Given the description of an element on the screen output the (x, y) to click on. 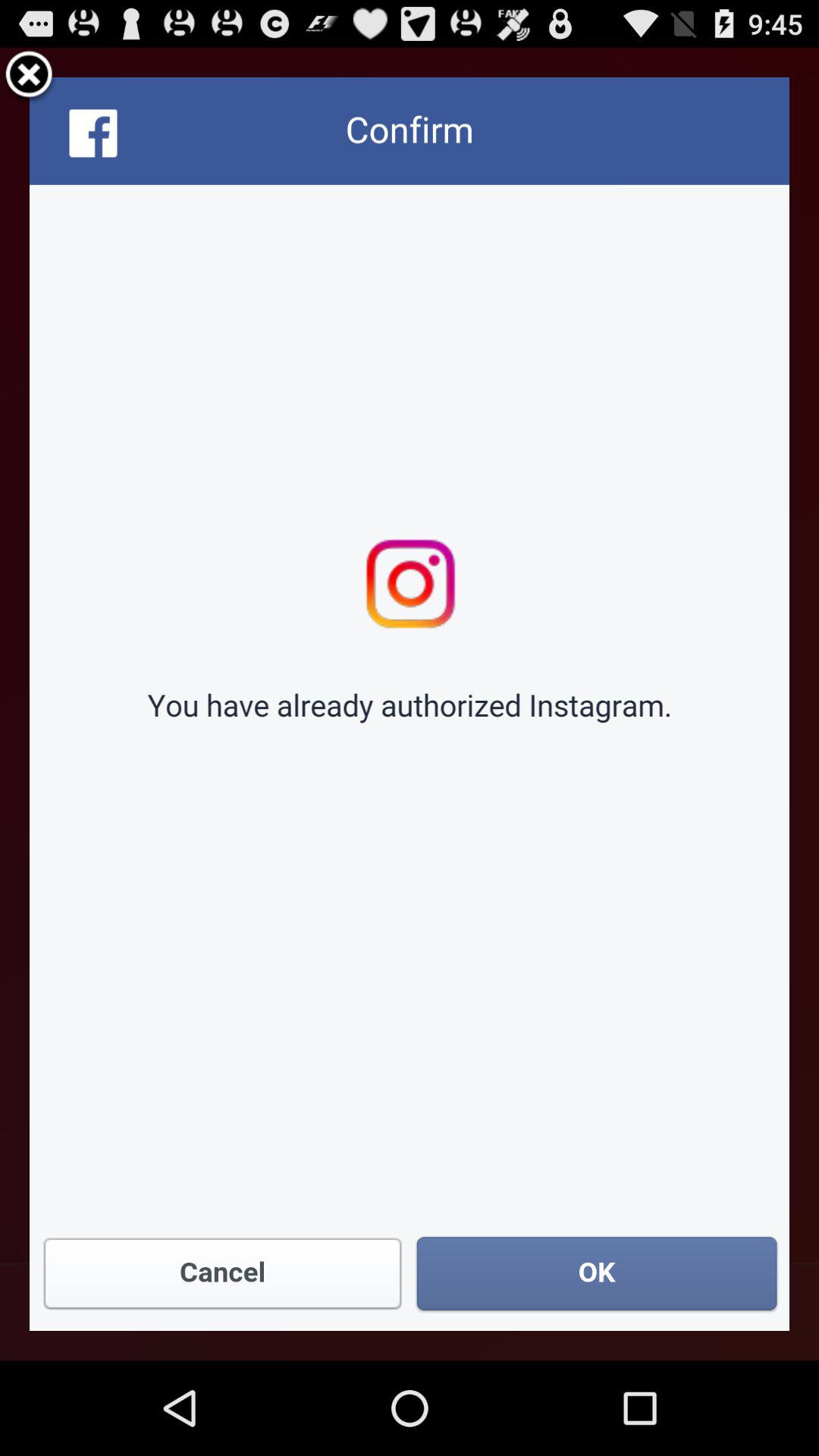
confirm window (409, 703)
